Given the description of an element on the screen output the (x, y) to click on. 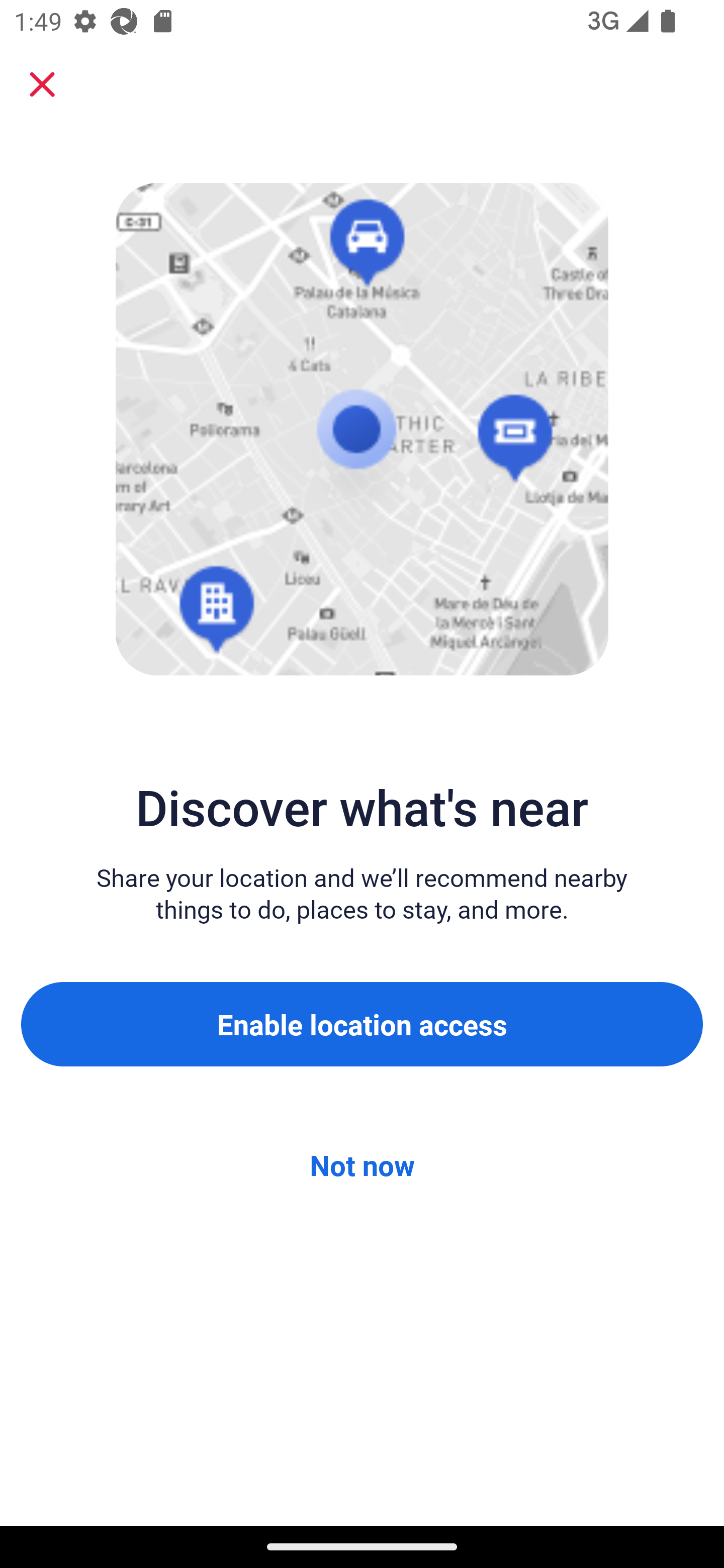
Close sheet (42, 84)
Enable location access (361, 1023)
Not now (362, 1164)
